Given the description of an element on the screen output the (x, y) to click on. 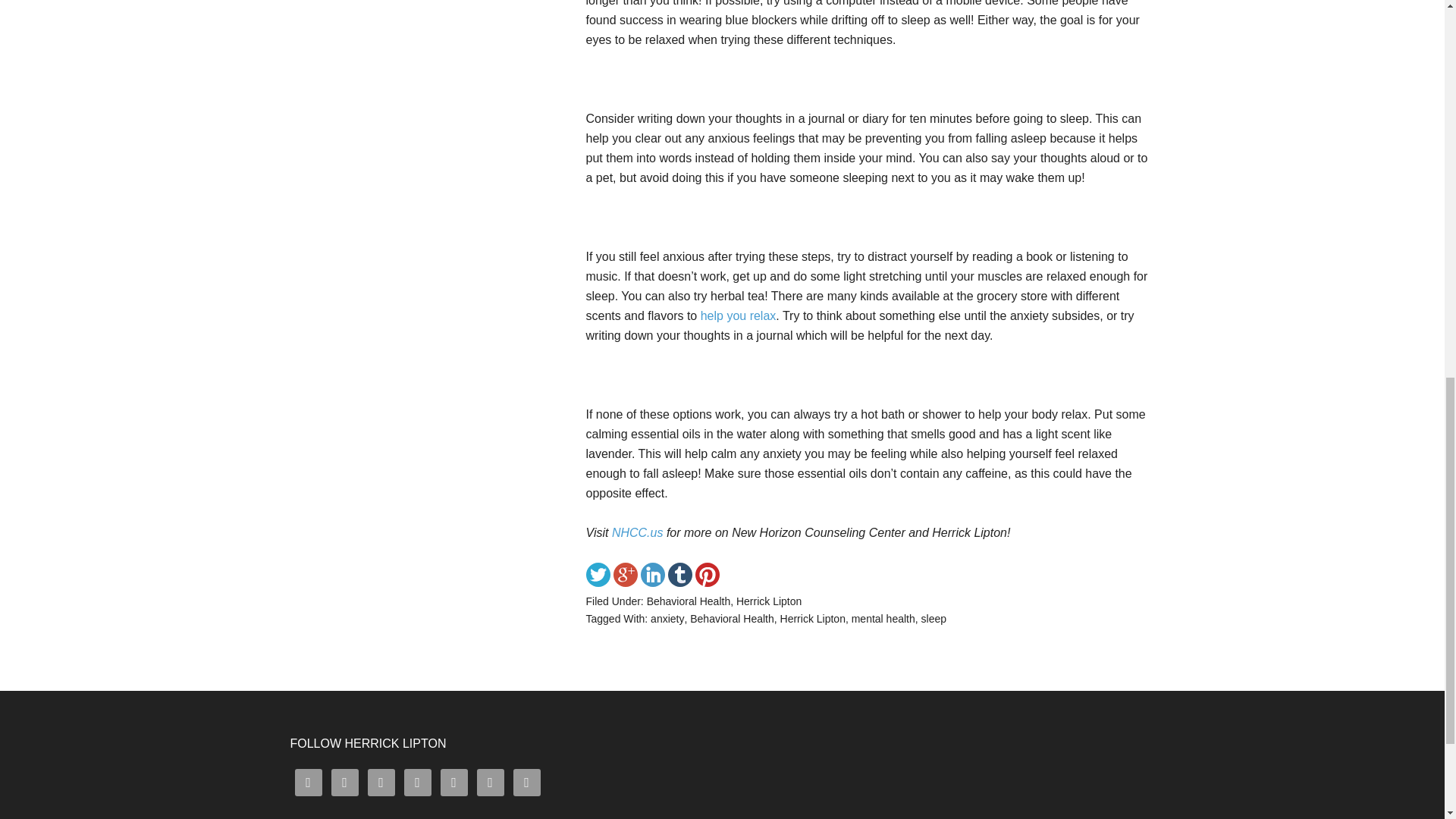
sleep (933, 618)
mental health (883, 618)
Herrick Lipton (812, 618)
help you relax (736, 315)
Behavioral Health (732, 618)
NHCC.us (637, 532)
Behavioral Health (688, 601)
anxiety (667, 618)
Herrick Lipton (769, 601)
